Given the description of an element on the screen output the (x, y) to click on. 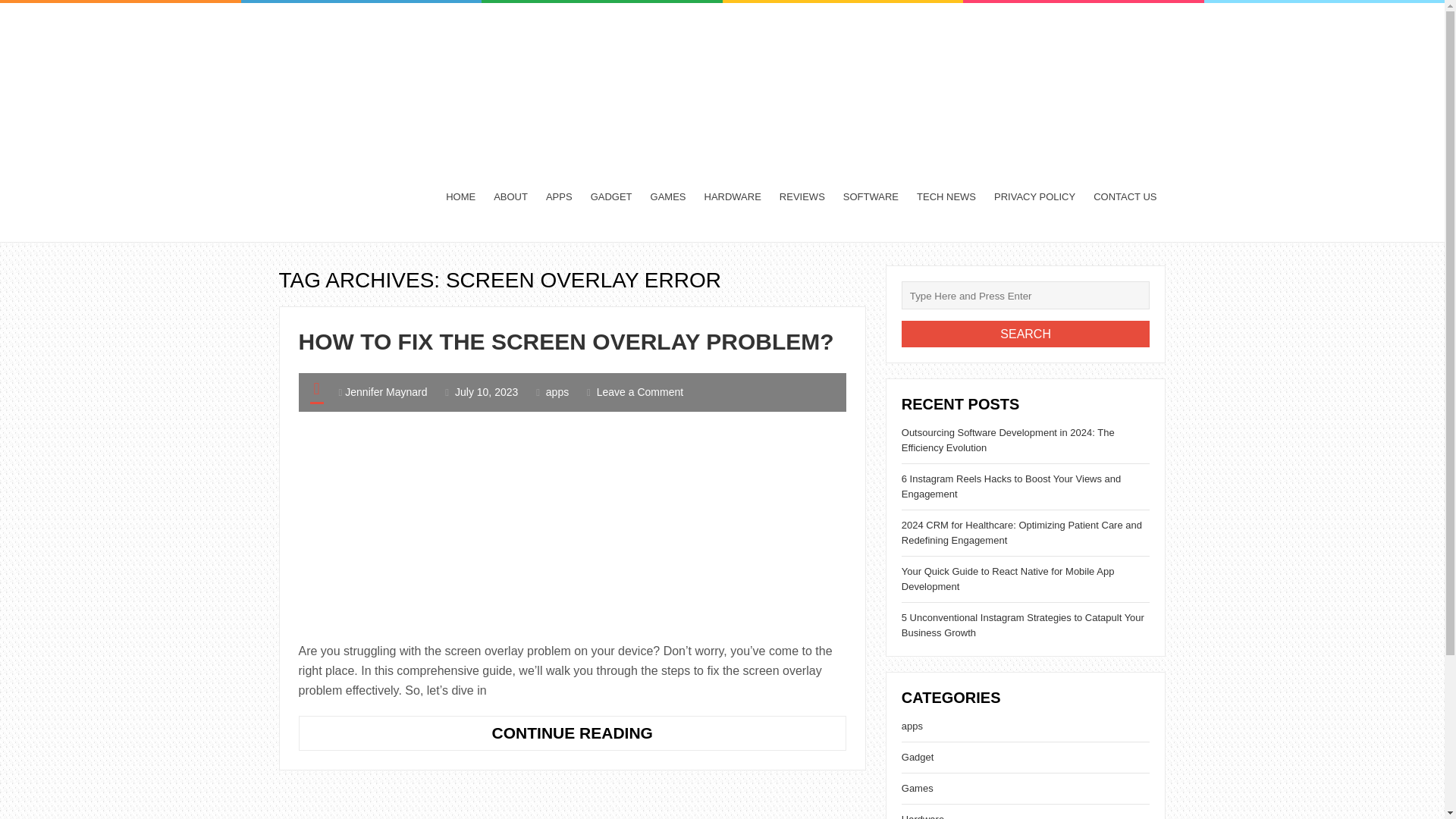
July 10, 2023 (486, 391)
PRIVACY POLICY (1034, 196)
Games (917, 787)
Posts by Jennifer Maynard (385, 391)
Search (1025, 334)
Your Quick Guide to React Native for Mobile App Development (1008, 578)
CONTACT US (1125, 196)
Jennifer Maynard (385, 391)
Search (1025, 334)
How to Fix the Screen Overlay Problem? (566, 341)
Hardware (922, 816)
Gadget (917, 756)
